Given the description of an element on the screen output the (x, y) to click on. 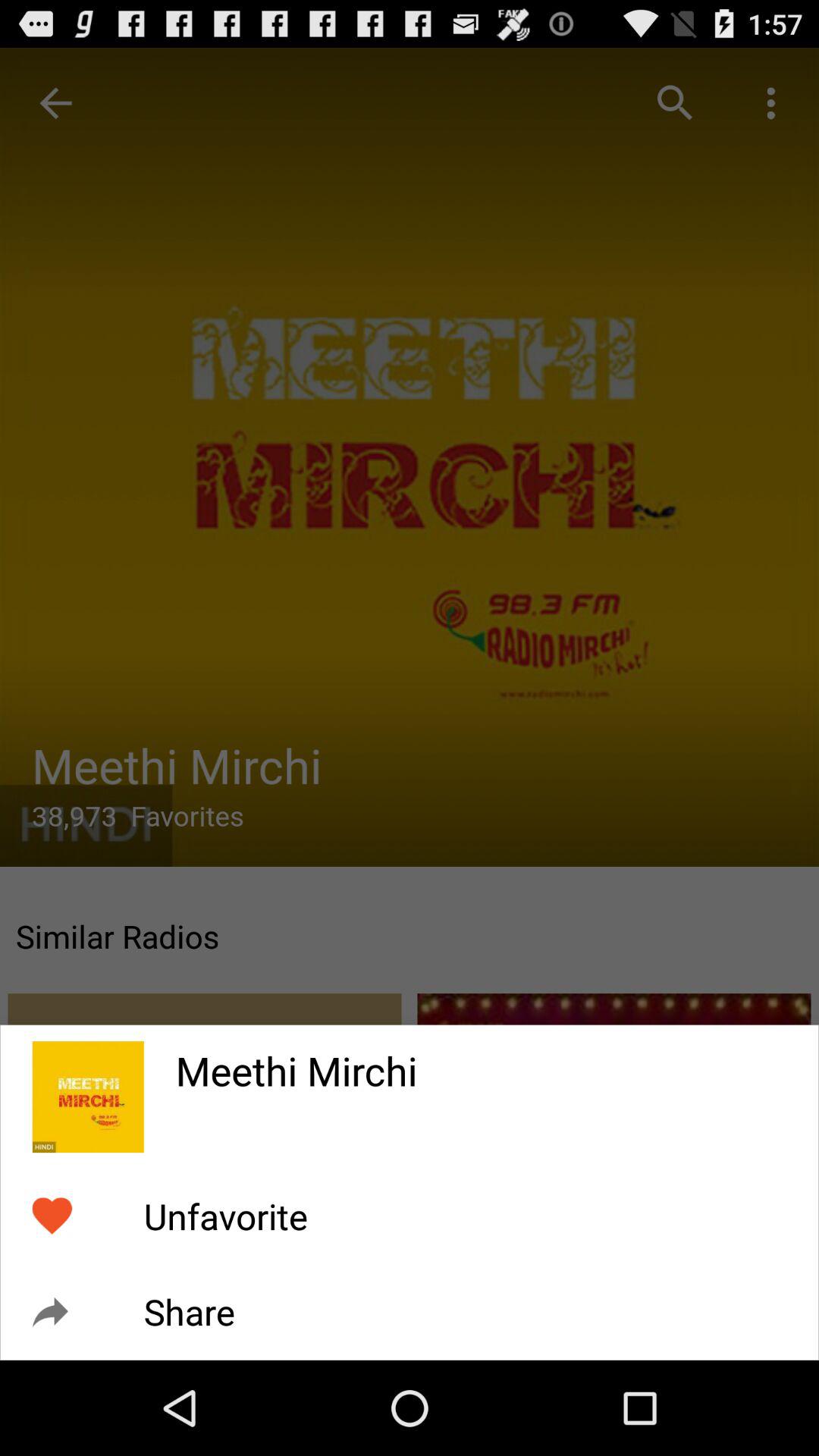
press the unfavorite icon (225, 1216)
